Given the description of an element on the screen output the (x, y) to click on. 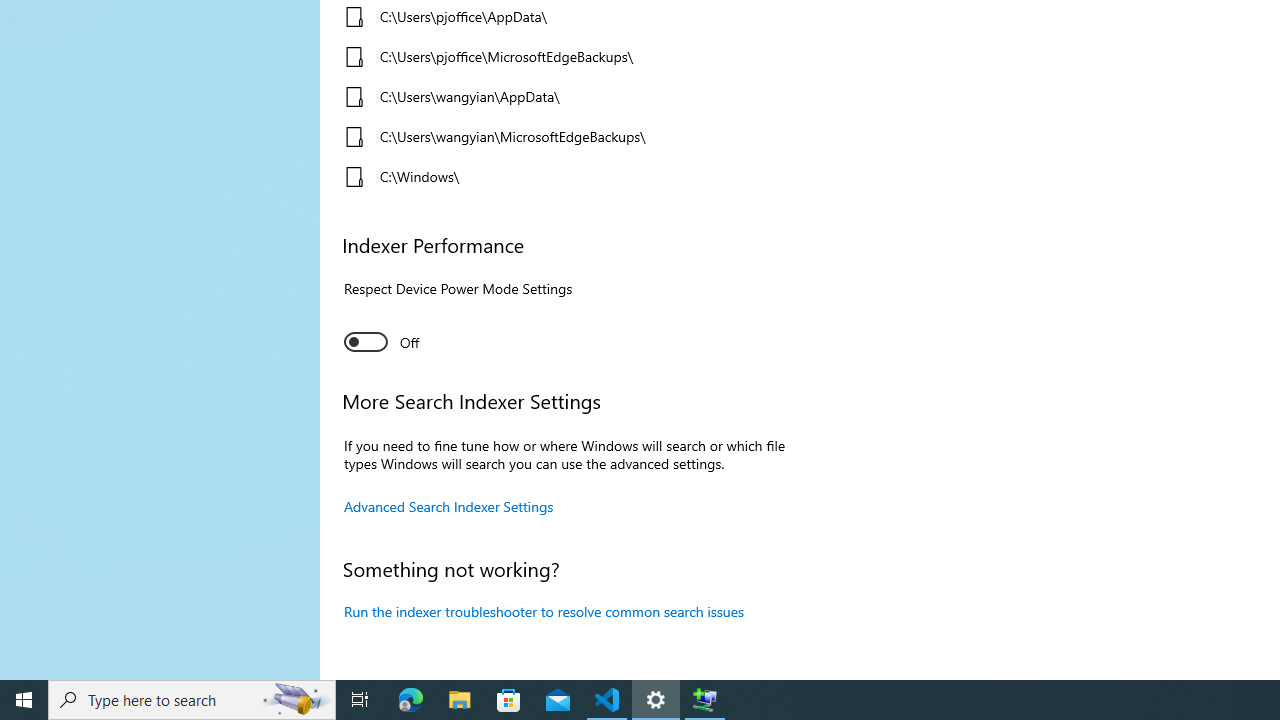
C:\Users\pjoffice\MicrosoftEdgeBackups\ (563, 56)
Indexer Performance. Respect Device Power Mode Settings (381, 341)
C:\Users\wangyian\AppData\ (563, 96)
Advanced Search Indexer Settings (449, 506)
C:\Users\wangyian\MicrosoftEdgeBackups\ (563, 136)
